Given the description of an element on the screen output the (x, y) to click on. 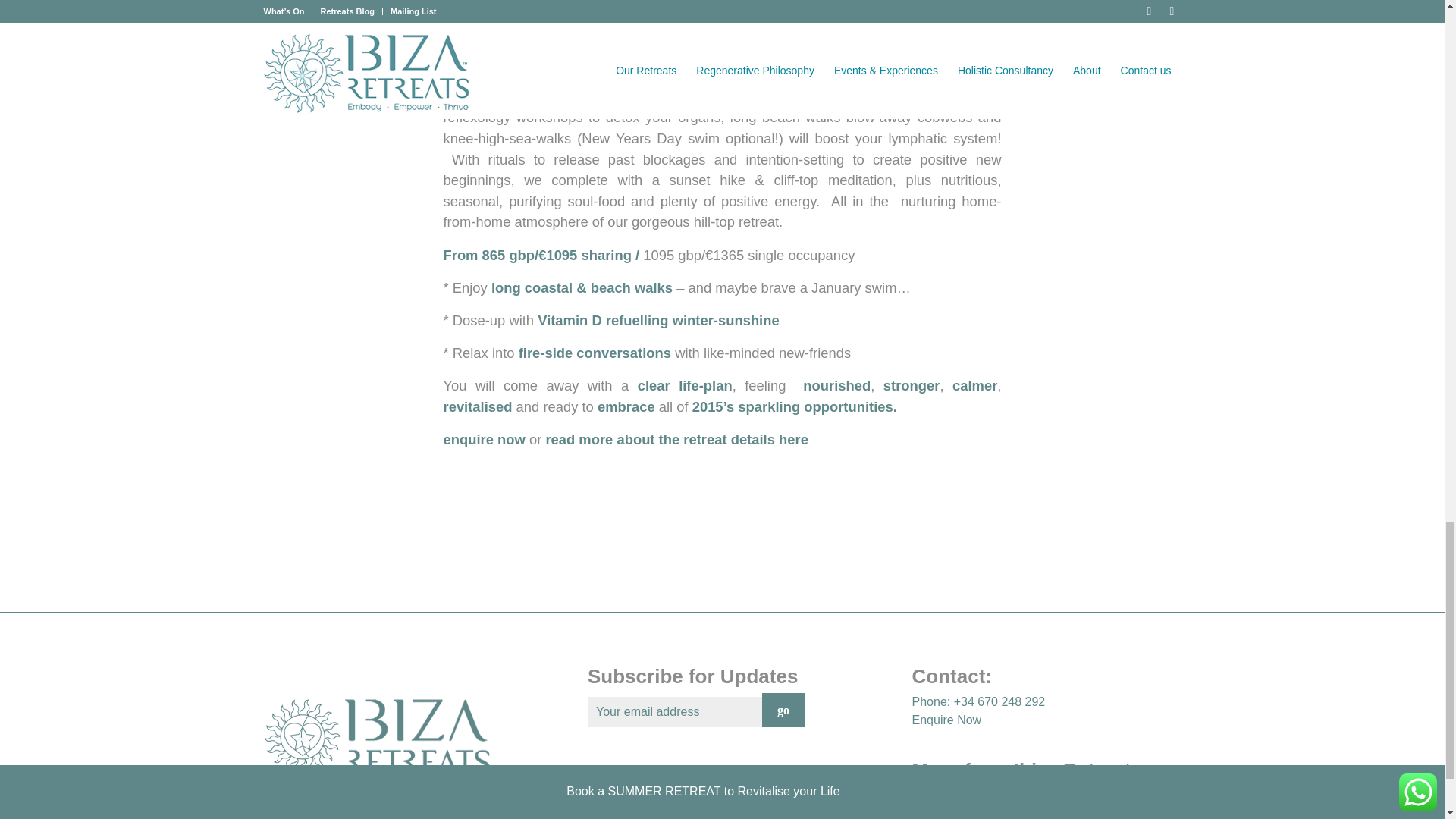
Terms and Conditions (646, 791)
read more about the retreat details here (674, 439)
Enquire Now (946, 719)
go (783, 709)
go (783, 709)
Privacy Policy (625, 773)
